Given the description of an element on the screen output the (x, y) to click on. 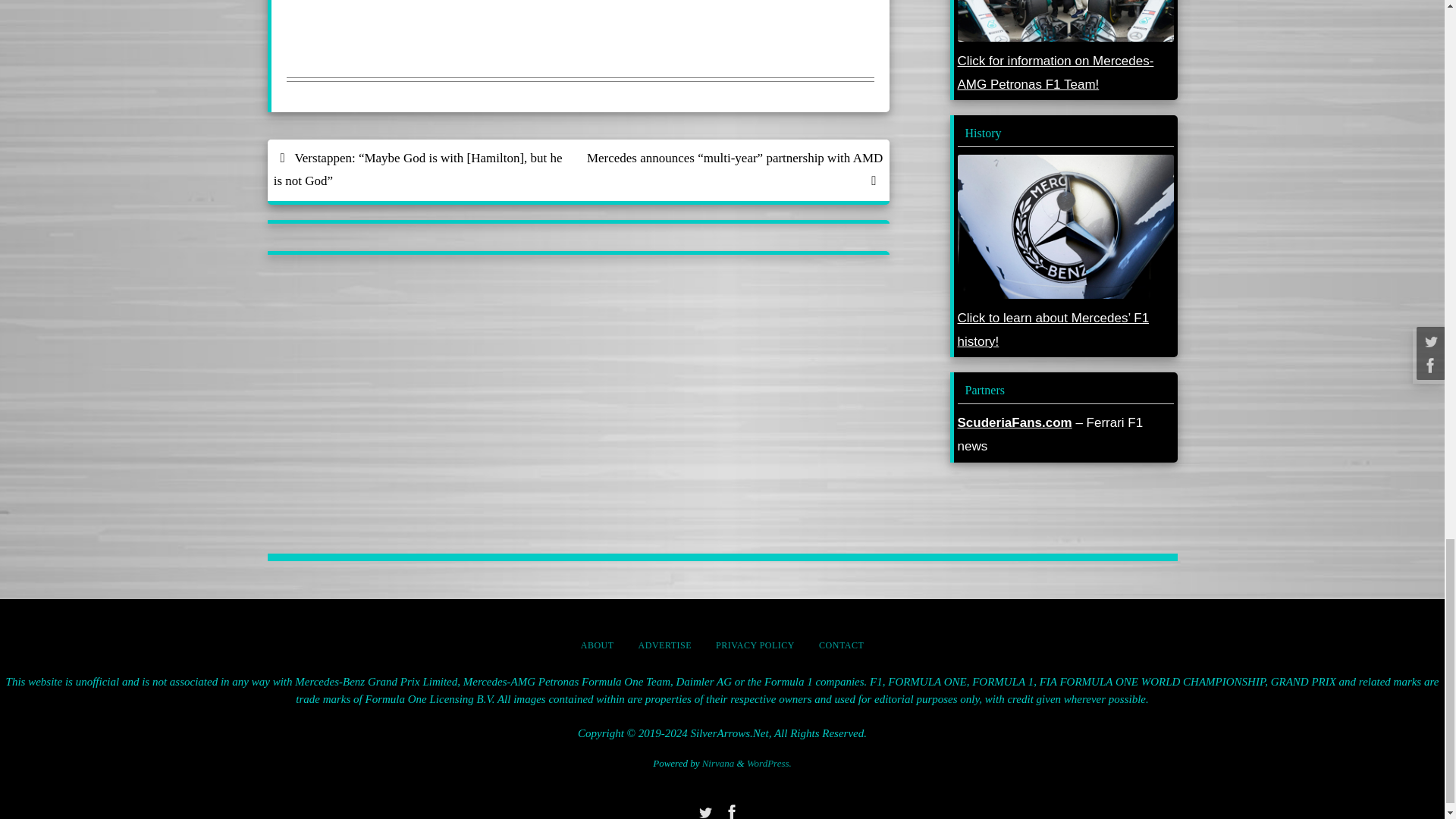
Nirvana Theme by Cryout Creations (718, 763)
SilverArrows.Net on Twitter (704, 810)
Semantic Personal Publishing Platform (769, 763)
